Given the description of an element on the screen output the (x, y) to click on. 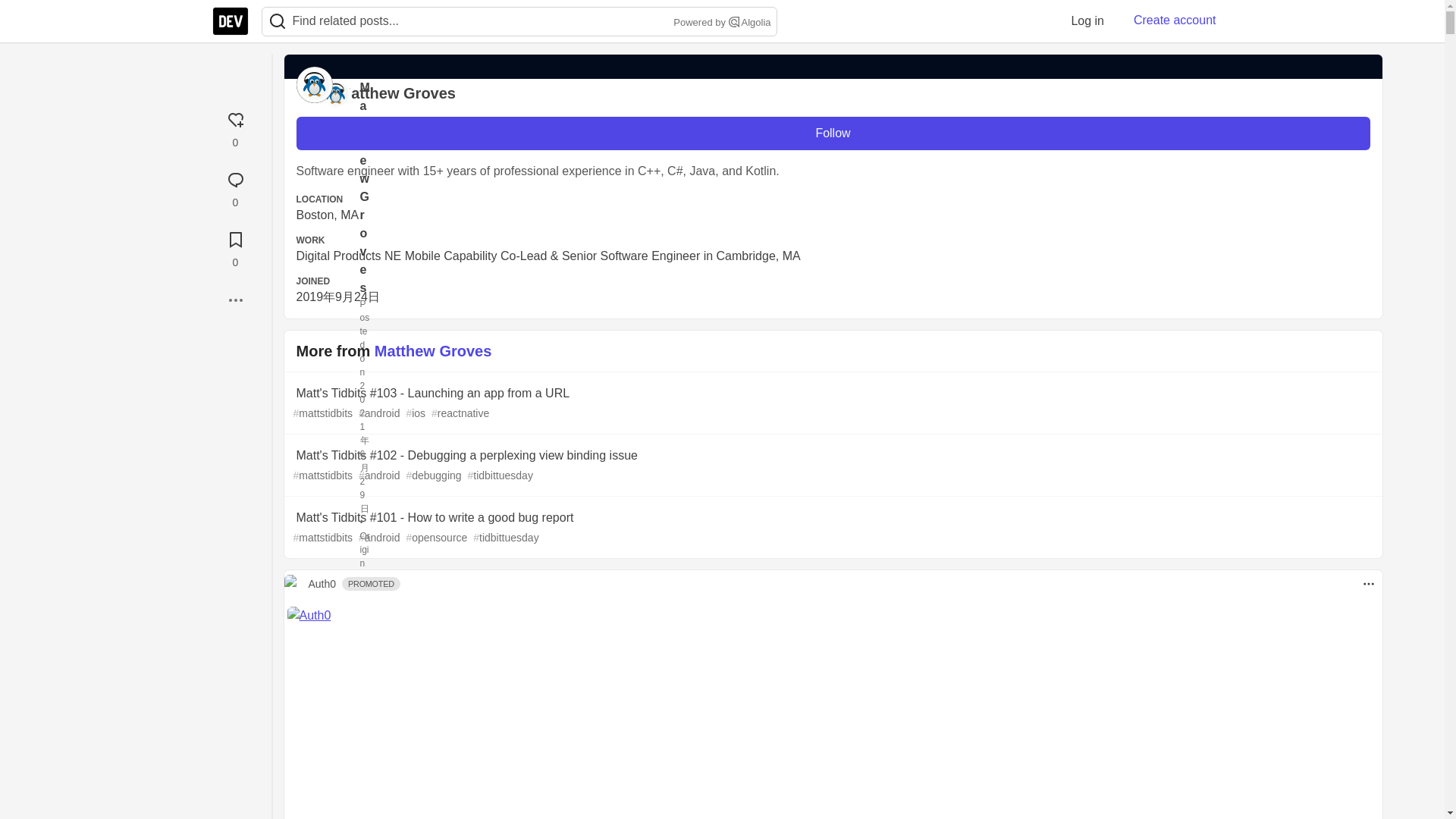
0 (235, 187)
Create account (1174, 20)
More... (234, 300)
Powered by Algolia (720, 22)
Log in (1087, 20)
0 (235, 247)
More... (234, 299)
